Given the description of an element on the screen output the (x, y) to click on. 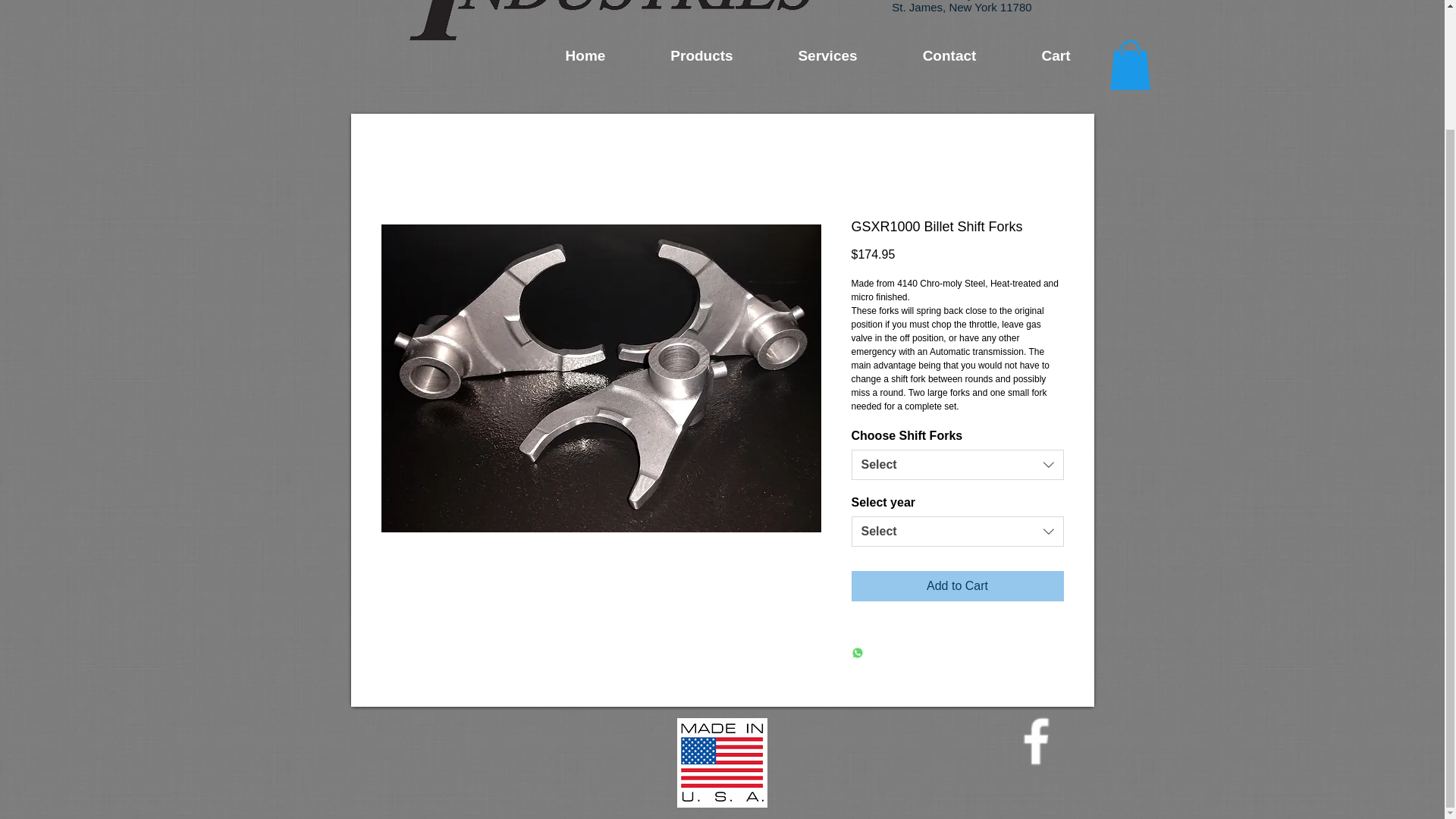
Robinson Logo.png (587, 23)
Contact (949, 55)
Services (827, 55)
Home (584, 55)
Add to Cart (956, 585)
Products (702, 55)
Select (956, 531)
Cart (1055, 55)
Select (956, 464)
